Given the description of an element on the screen output the (x, y) to click on. 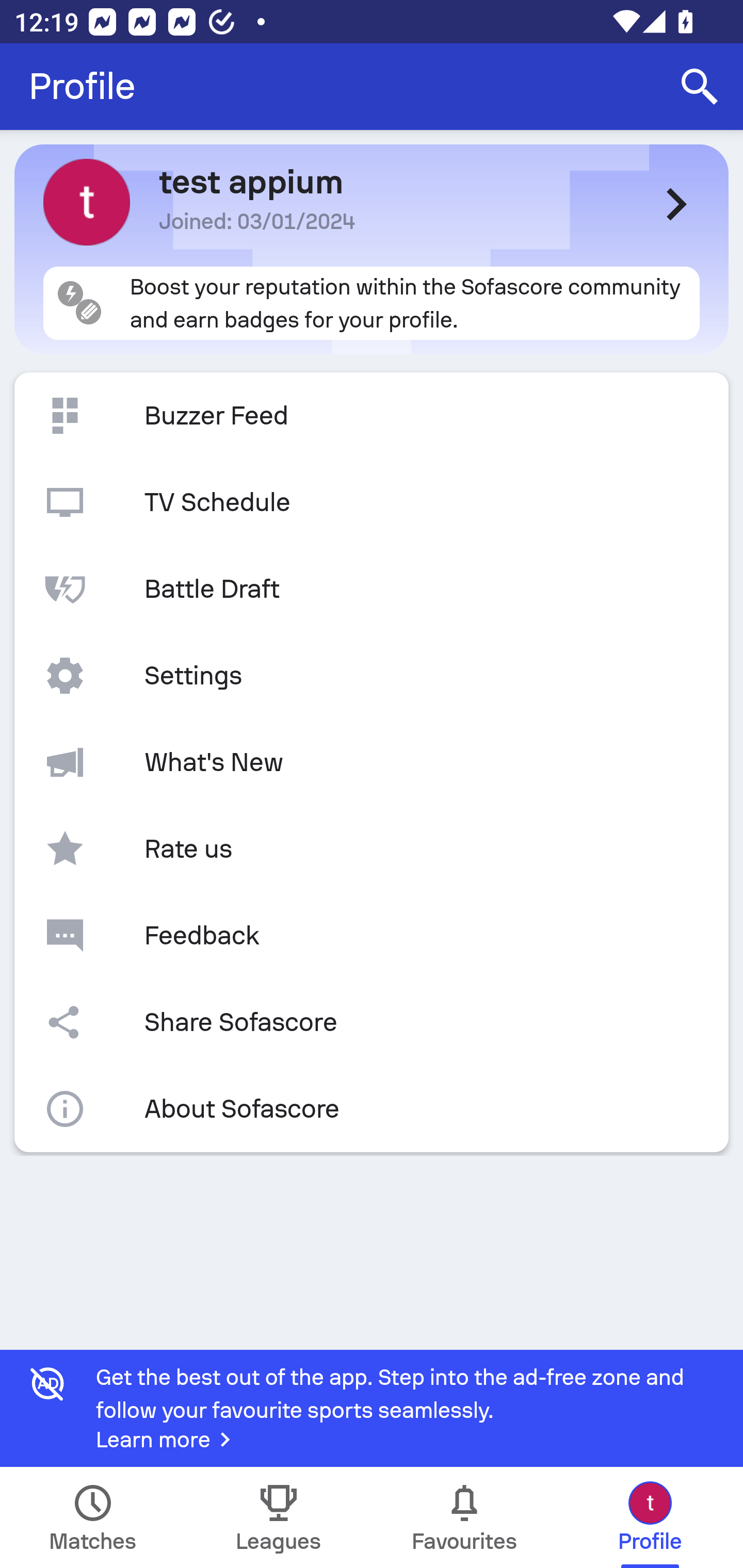
Profile (81, 86)
Search (699, 86)
Buzzer Feed (371, 416)
TV Schedule (371, 502)
Battle Draft (371, 588)
Settings (371, 675)
What's New (371, 762)
Rate us (371, 848)
Feedback (371, 935)
Share Sofascore (371, 1022)
About Sofascore (371, 1109)
Matches (92, 1517)
Leagues (278, 1517)
Favourites (464, 1517)
